Given the description of an element on the screen output the (x, y) to click on. 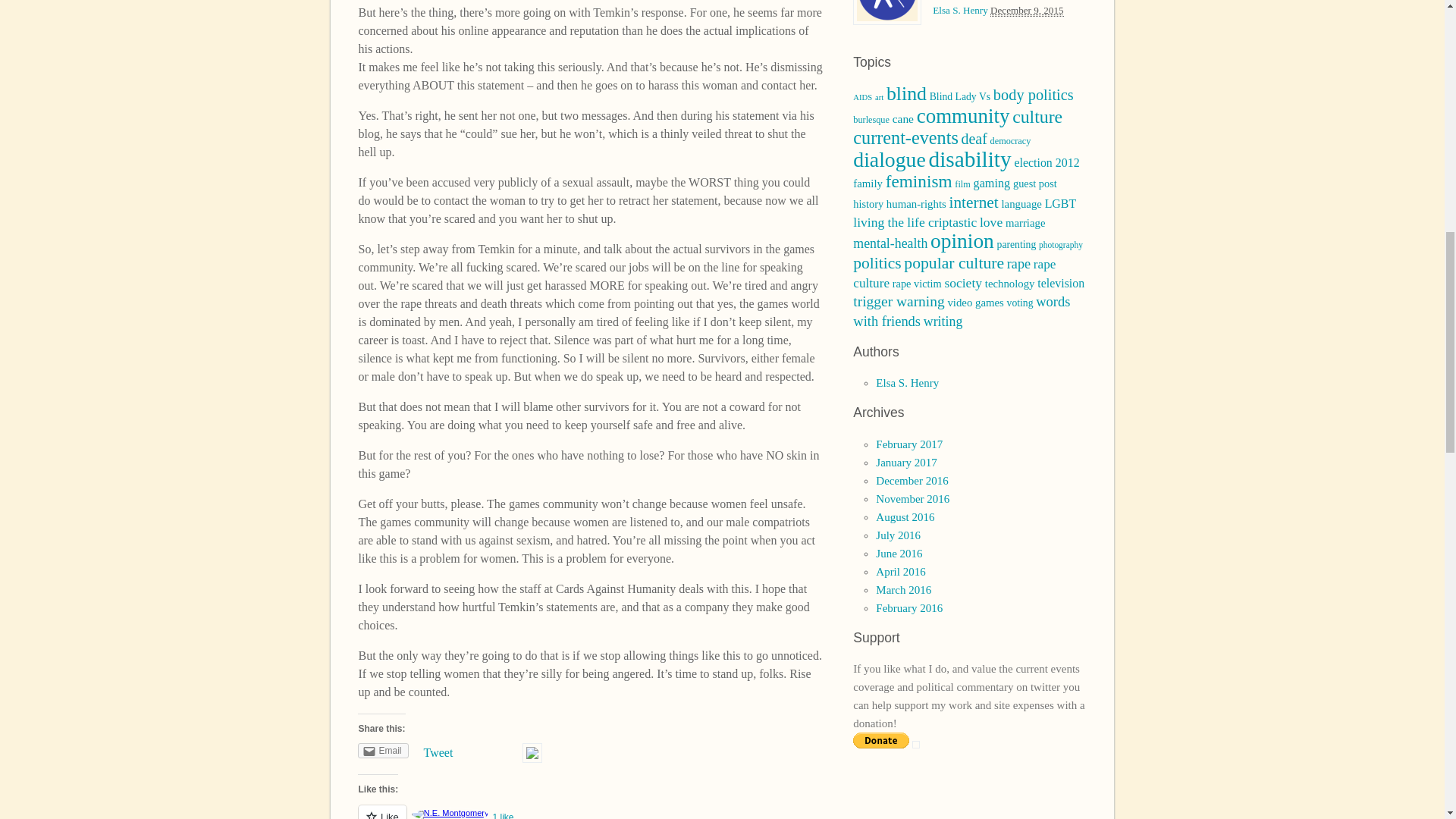
Click to email this to a friend (382, 750)
Email (382, 750)
Share on Tumblr (483, 750)
Share on Tumblr (483, 750)
Tweet (437, 752)
